Given the description of an element on the screen output the (x, y) to click on. 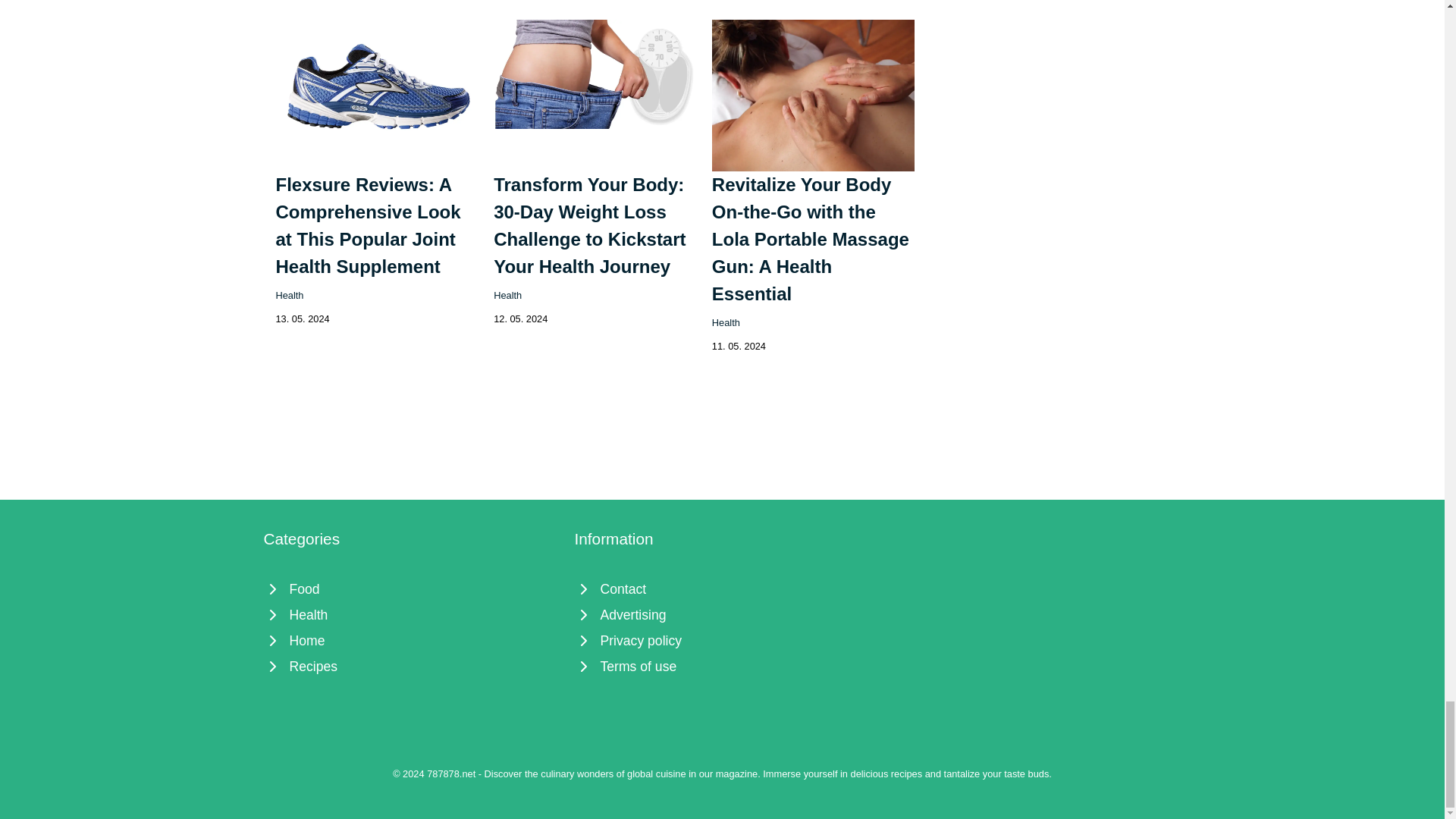
Home (411, 640)
Advertising (722, 614)
Privacy policy (722, 640)
Food (411, 588)
Health (411, 614)
Recipes (411, 666)
Health (290, 295)
Health (507, 295)
Health (725, 322)
Contact (722, 588)
